Given the description of an element on the screen output the (x, y) to click on. 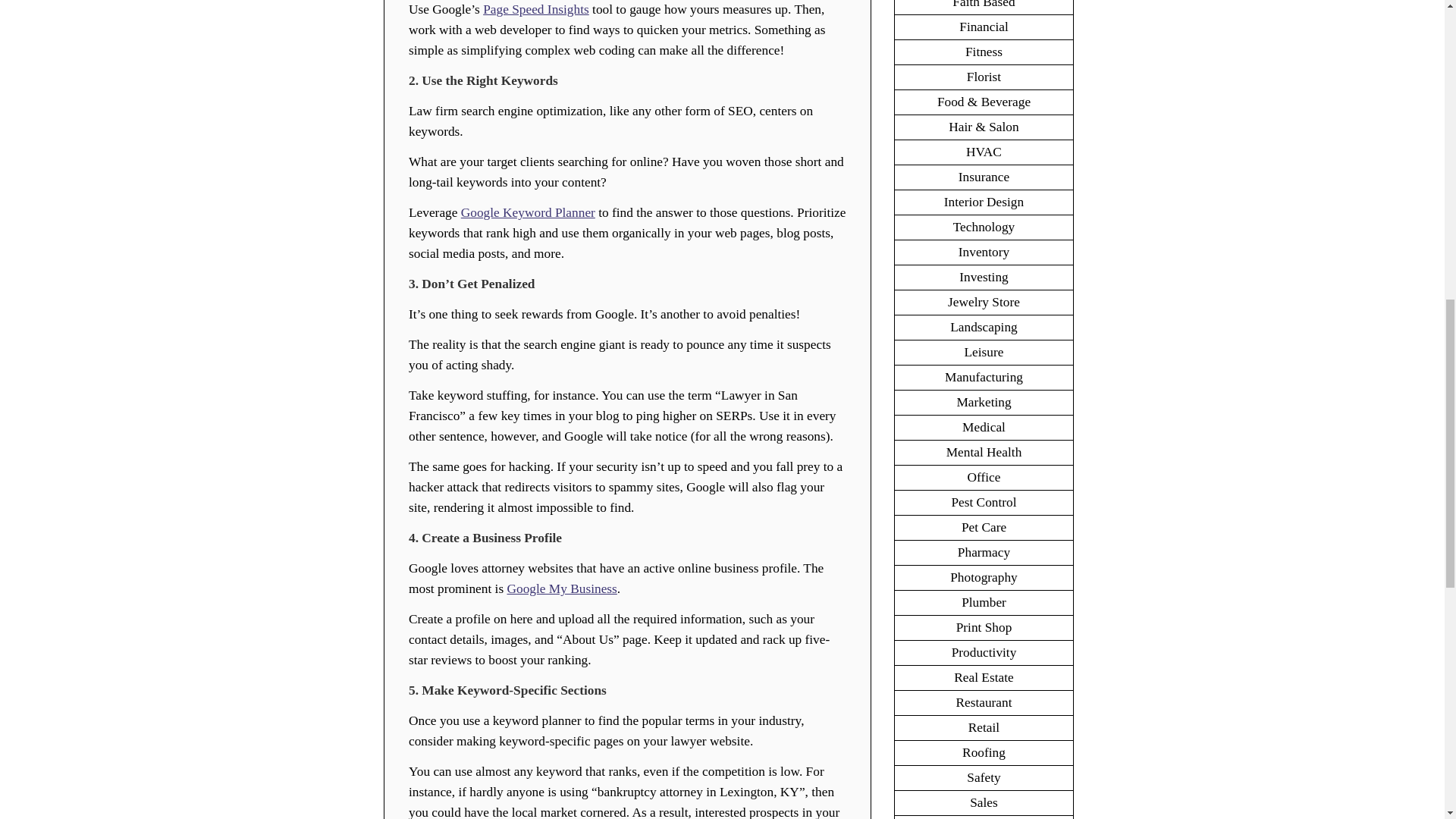
HVAC (983, 151)
Florist (983, 76)
Financial (983, 26)
Faith Based (983, 4)
Google My Business (560, 588)
Fitness (984, 51)
Google Keyword Planner (528, 212)
Insurance (983, 176)
Interior Design (983, 201)
Page Speed Insights (536, 9)
